Given the description of an element on the screen output the (x, y) to click on. 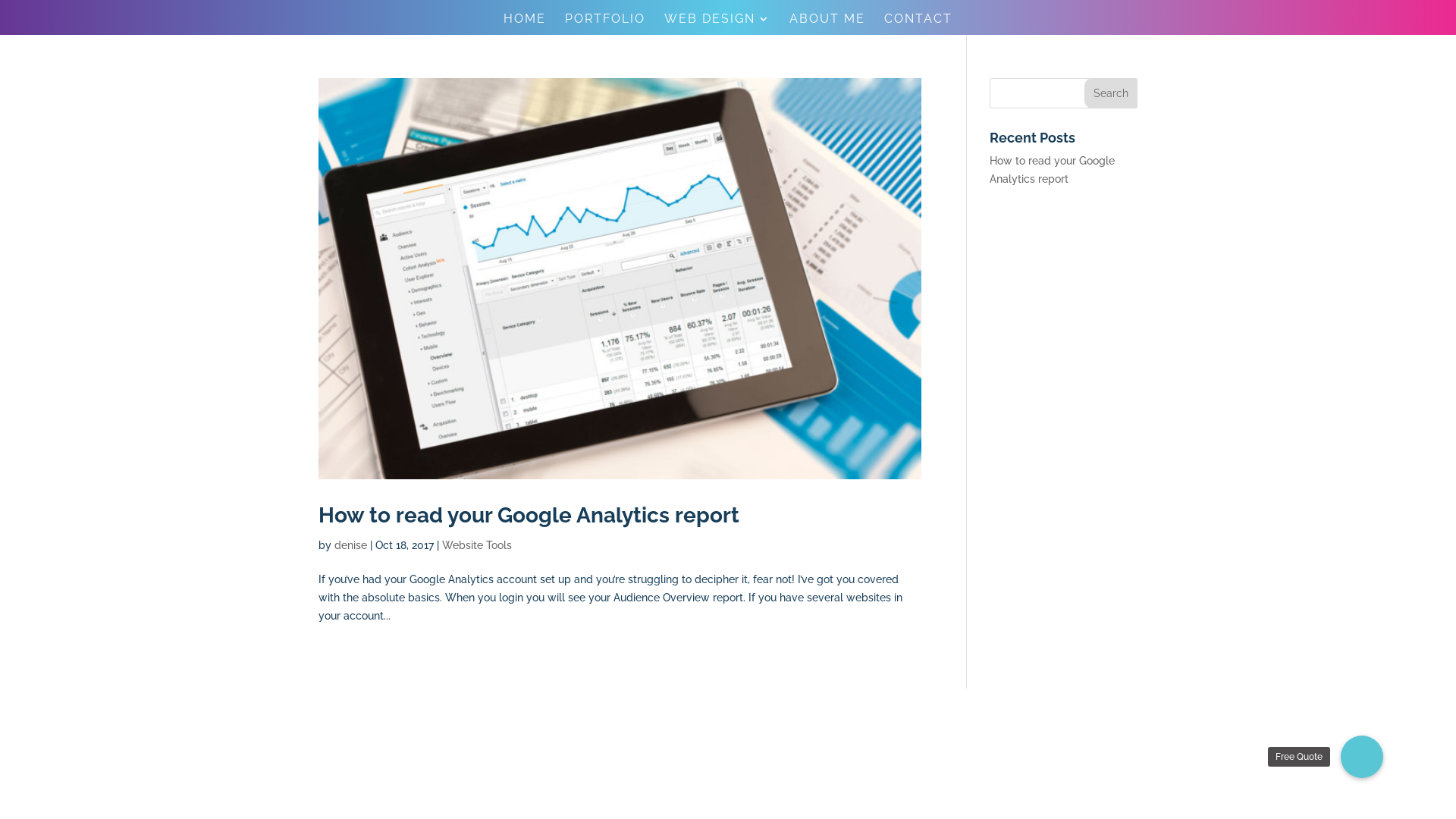
PORTFOLIO Element type: text (604, 23)
denise Element type: text (350, 545)
How to read your Google Analytics report Element type: text (528, 514)
How to read your Google Analytics report Element type: text (1051, 169)
CONTACT Element type: text (918, 23)
ABOUT ME Element type: text (827, 23)
WEB DESIGN Element type: text (717, 23)
HOME Element type: text (524, 23)
Search Element type: text (1110, 93)
Free Quote Element type: text (1361, 756)
Website Tools Element type: text (476, 545)
